Given the description of an element on the screen output the (x, y) to click on. 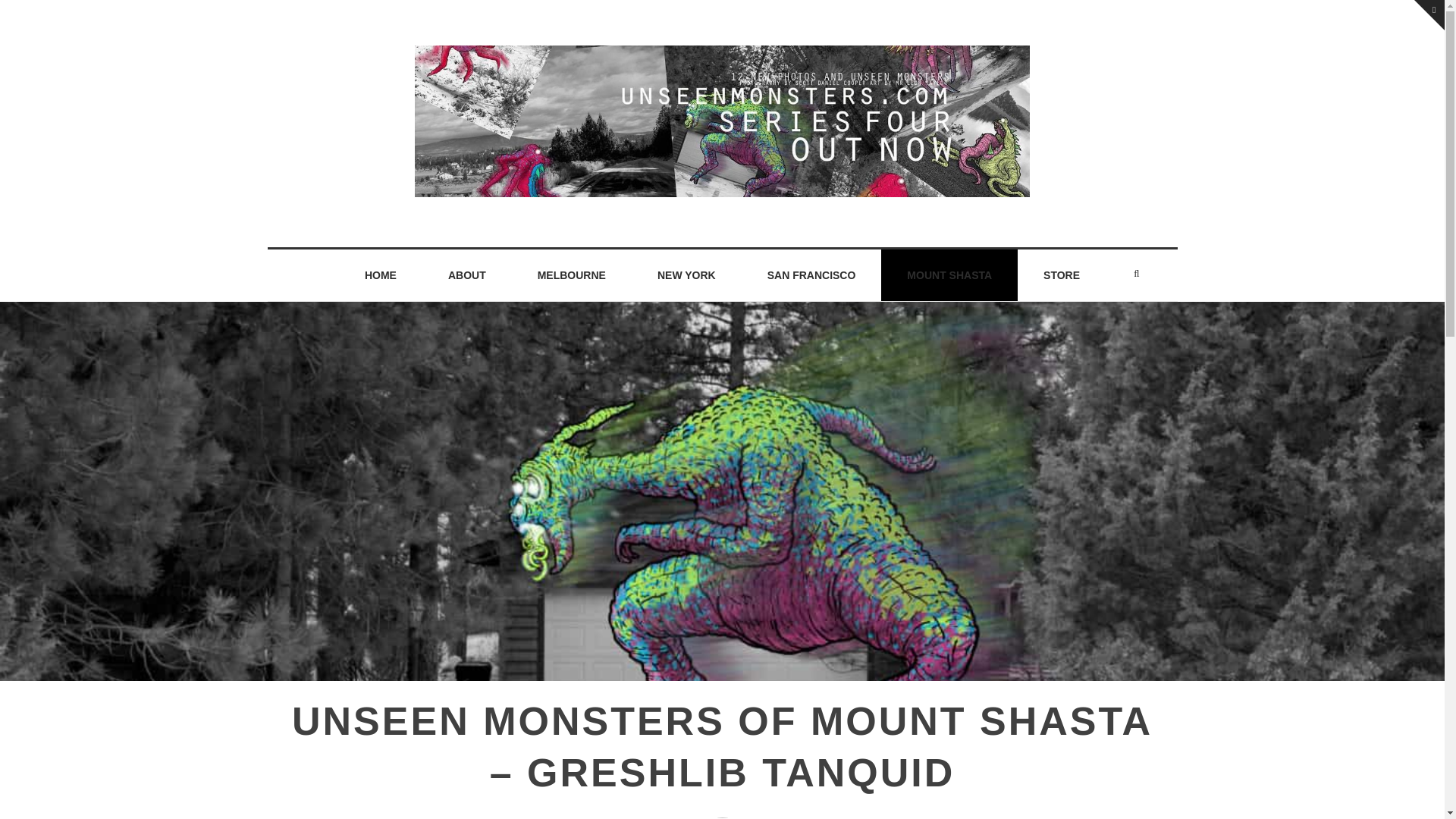
ABOUT (467, 275)
NEW YORK (686, 275)
STORE (1061, 275)
MOUNT SHASTA (948, 275)
SAN FRANCISCO (811, 275)
HOME (380, 275)
MELBOURNE (571, 275)
